Given the description of an element on the screen output the (x, y) to click on. 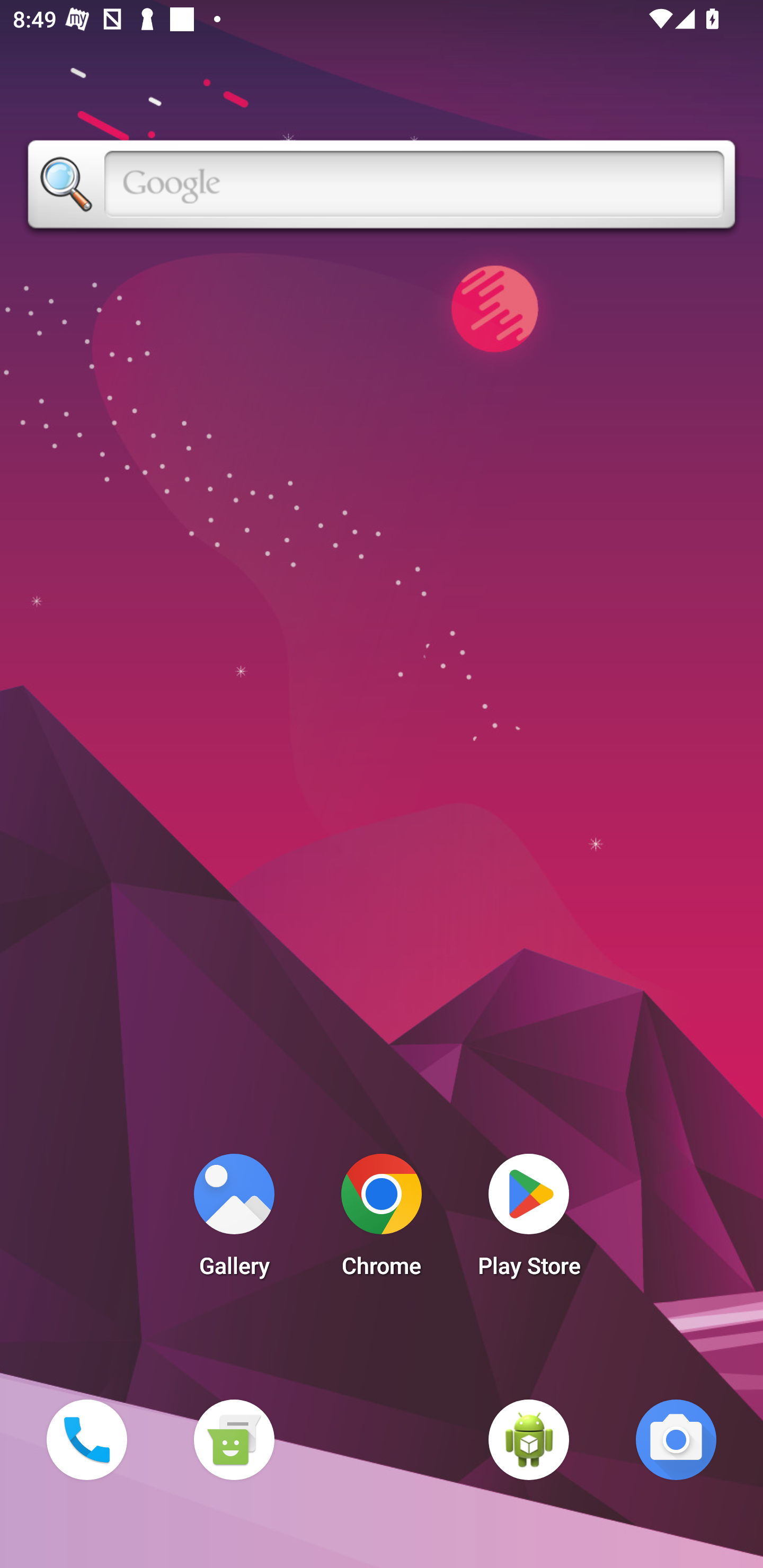
Gallery (233, 1220)
Chrome (381, 1220)
Play Store (528, 1220)
Phone (86, 1439)
Messaging (233, 1439)
WebView Browser Tester (528, 1439)
Camera (676, 1439)
